Given the description of an element on the screen output the (x, y) to click on. 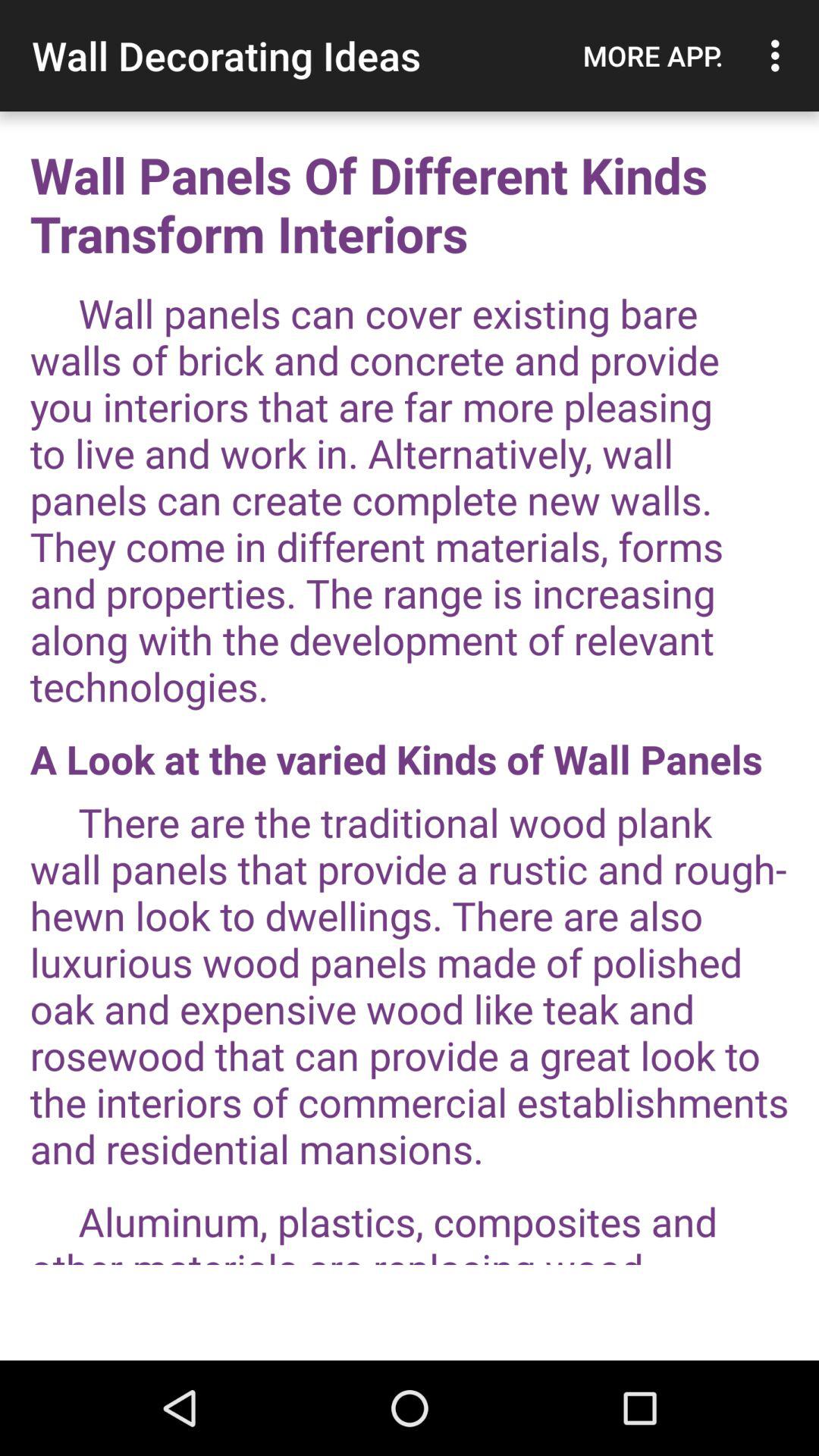
click the icon next to wall decorating ideas item (653, 55)
